Given the description of an element on the screen output the (x, y) to click on. 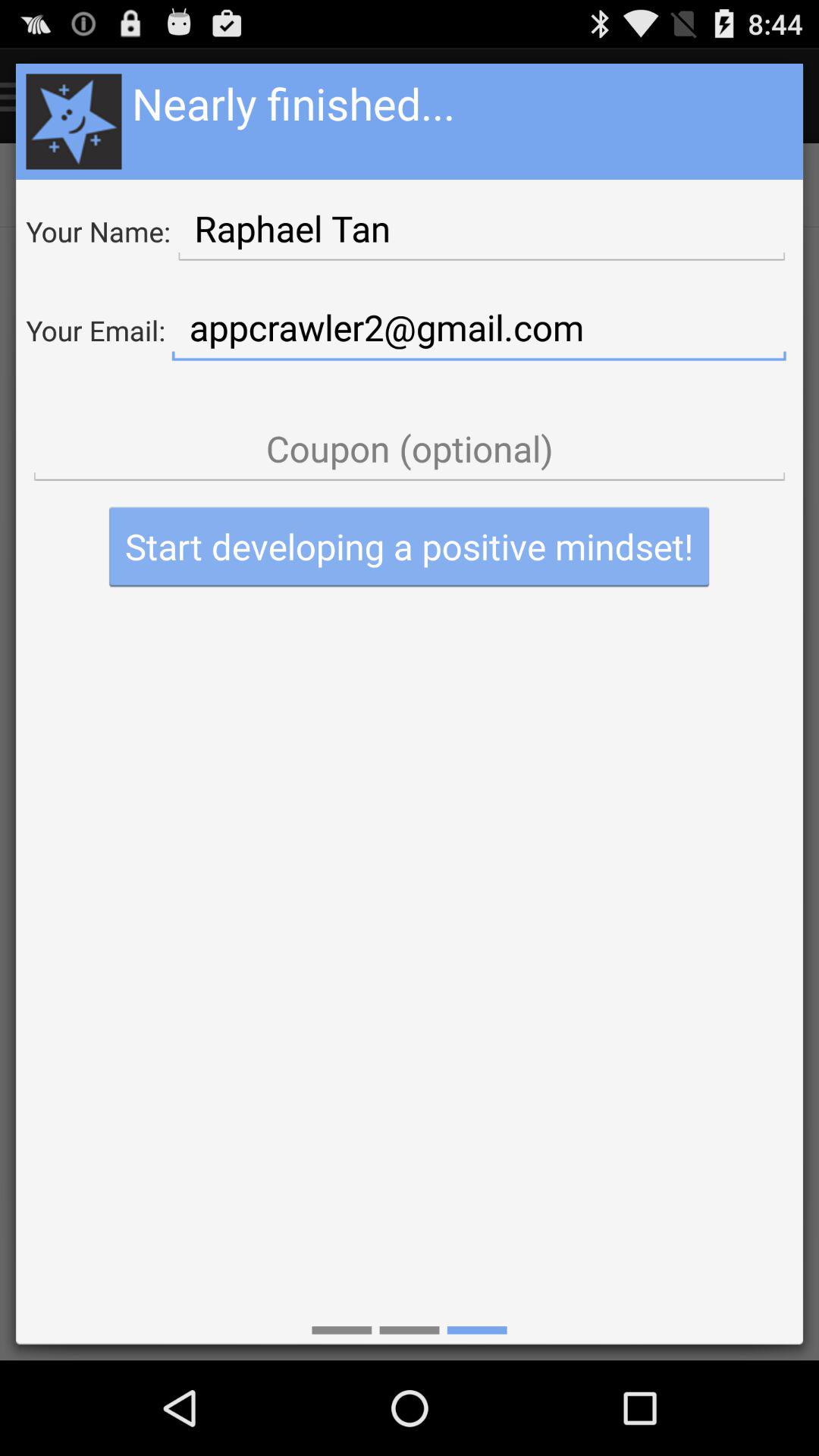
enter coupon code (409, 449)
